Given the description of an element on the screen output the (x, y) to click on. 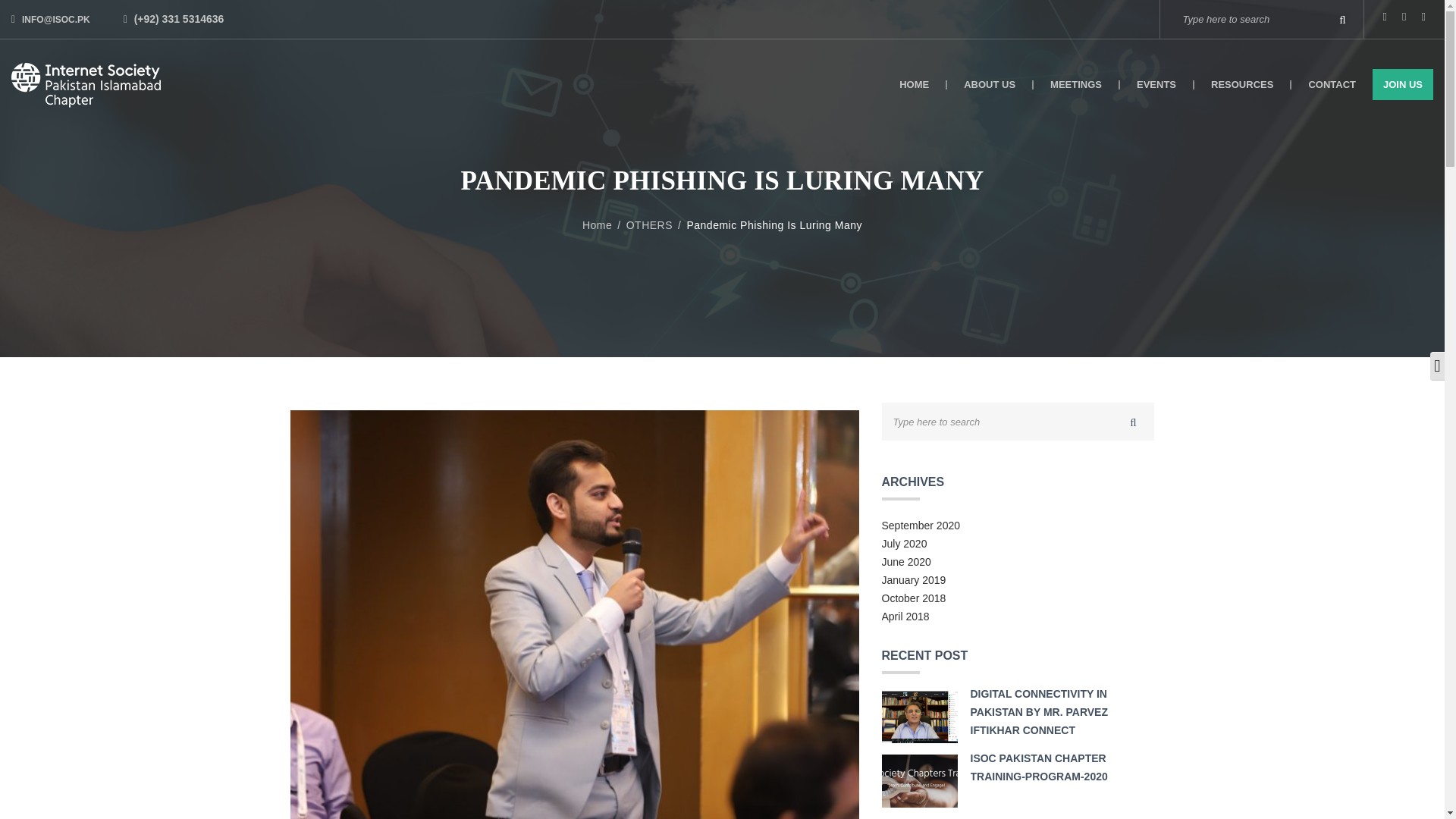
OTHERS (656, 224)
MEETINGS (1076, 84)
ABOUT US (990, 84)
Home (604, 224)
OTHERS (656, 224)
HOME (914, 84)
RESOURCES (1242, 84)
CONTACT (1332, 84)
JOIN US (1402, 83)
EVENTS (1156, 84)
